Given the description of an element on the screen output the (x, y) to click on. 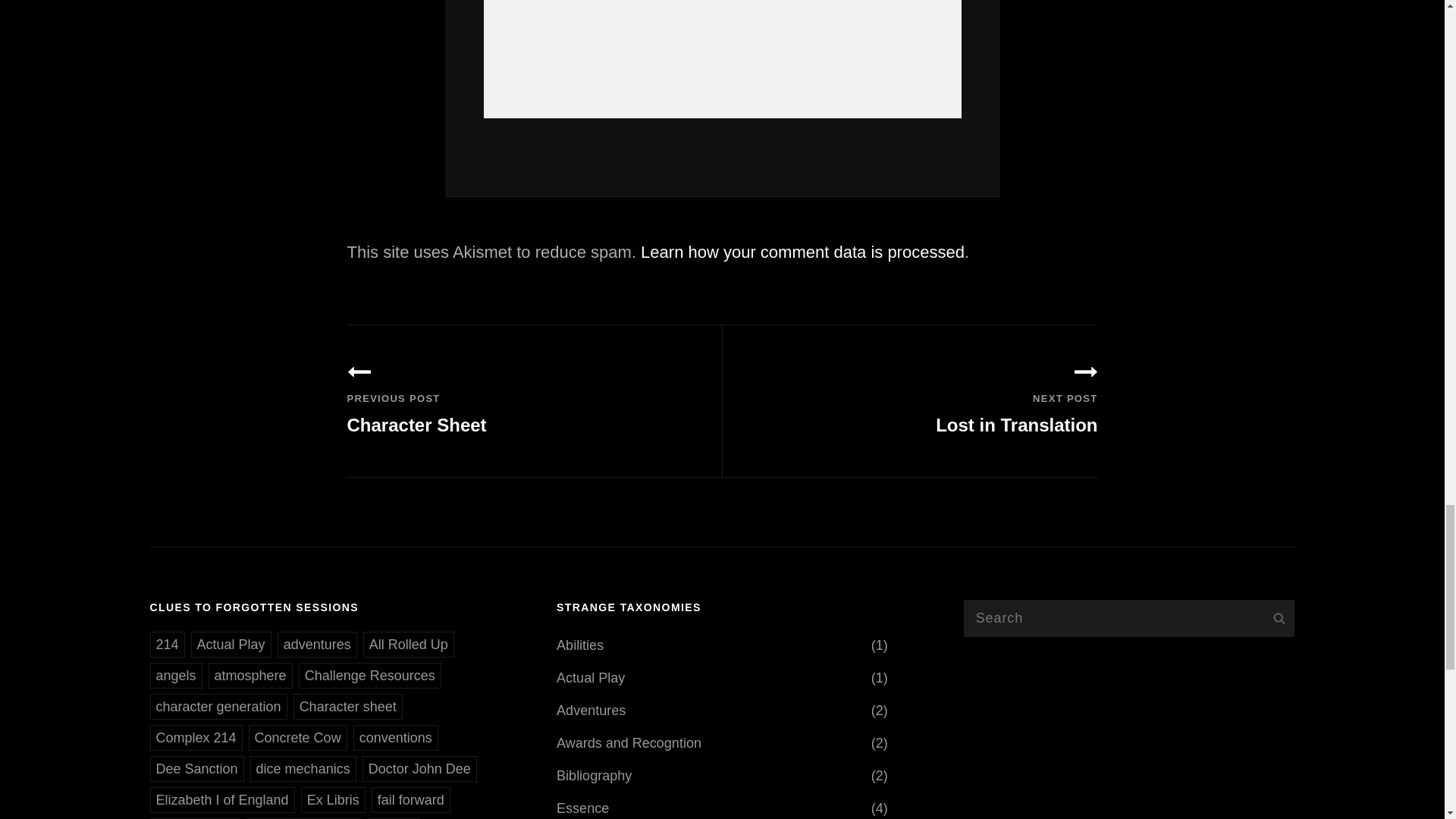
atmosphere (250, 675)
Comment Form (721, 58)
Actual Play (230, 644)
Learn how your comment data is processed (801, 251)
Challenge Resources (369, 675)
All Rolled Up (534, 400)
angels (909, 400)
214 (408, 644)
adventures (175, 675)
